Given the description of an element on the screen output the (x, y) to click on. 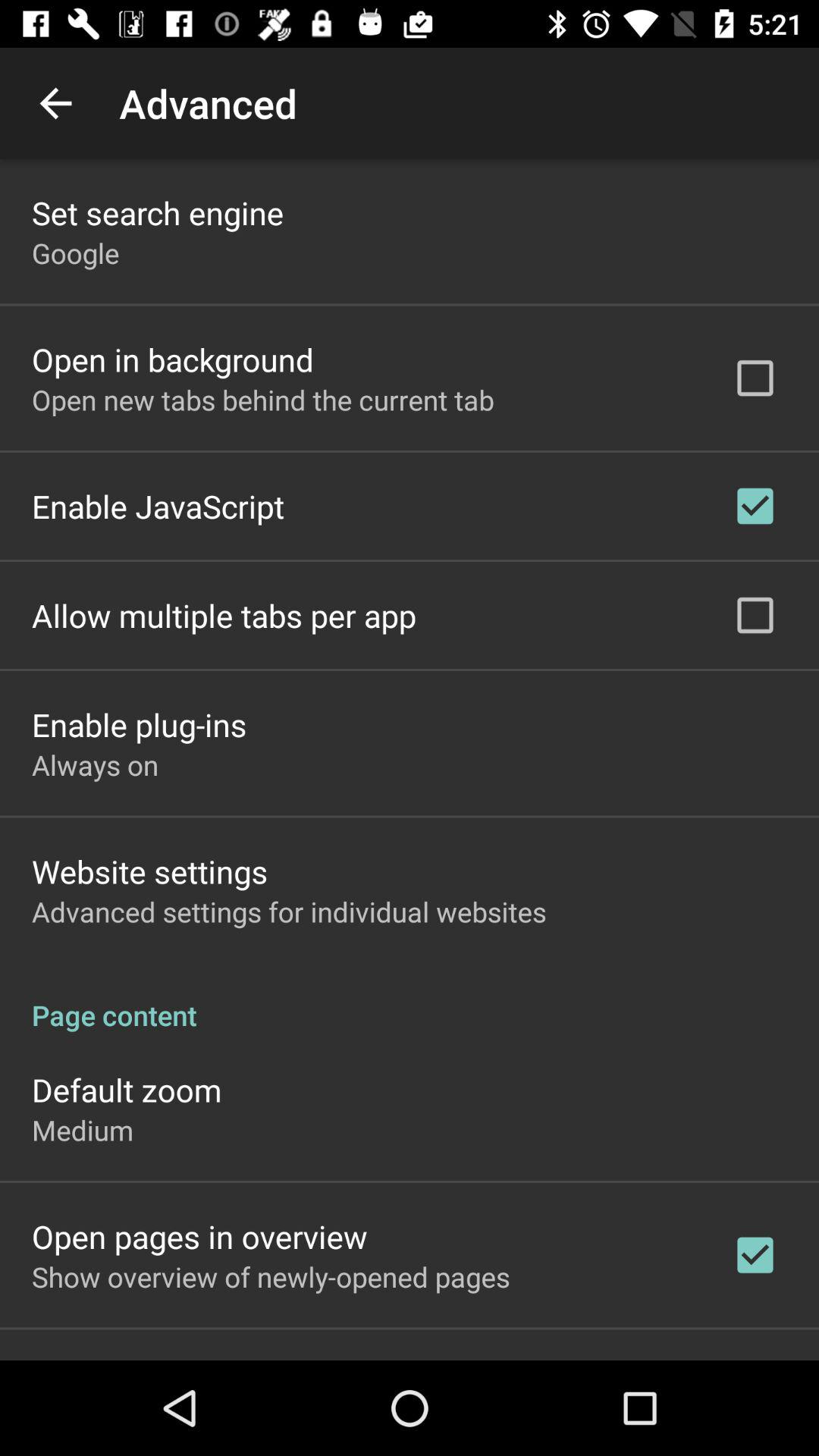
turn on item below always on icon (149, 870)
